Given the description of an element on the screen output the (x, y) to click on. 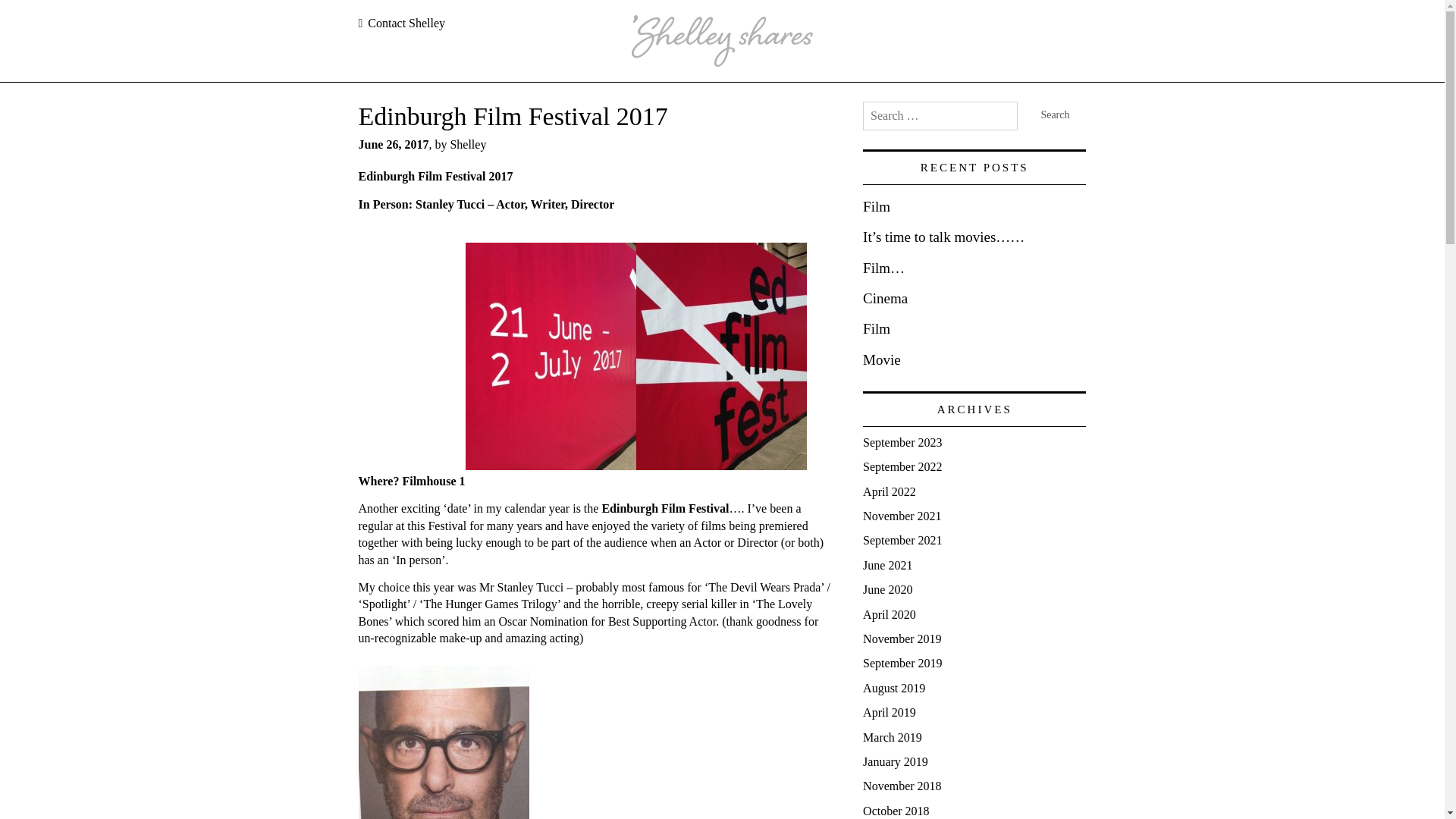
September 2019 (902, 662)
April 2020 (889, 614)
Search (1054, 114)
September 2023 (902, 441)
November 2021 (902, 515)
November 2019 (902, 638)
Film (876, 328)
September 2021 (902, 540)
Contact Shelley (401, 23)
September 2022 (902, 466)
June 2020 (887, 589)
Go to homepage (721, 40)
Cinema (885, 298)
October 2018 (896, 810)
August 2019 (893, 687)
